Given the description of an element on the screen output the (x, y) to click on. 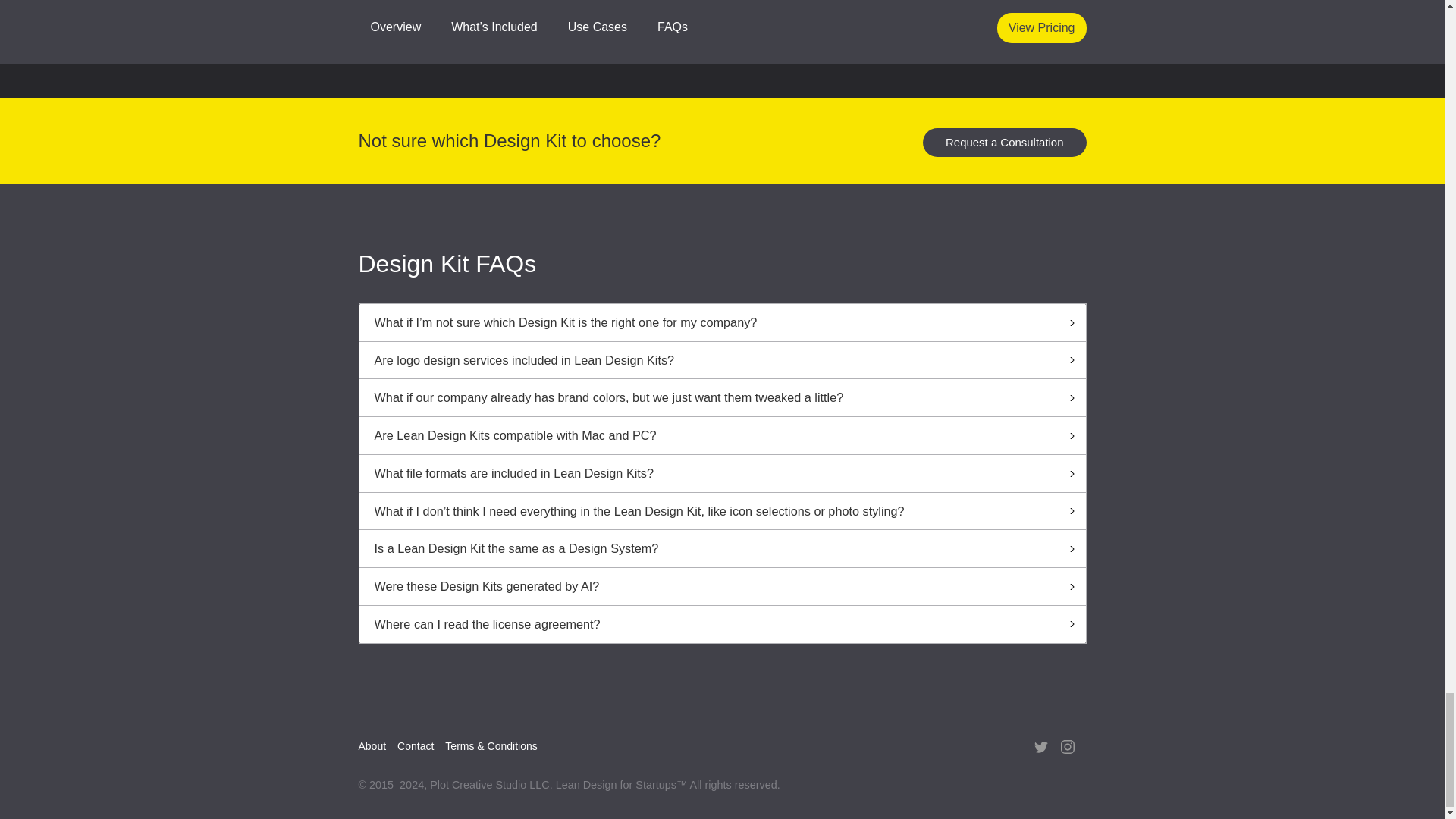
What file formats are included in Lean Design Kits? (722, 474)
Are logo design services included in Lean Design Kits? (722, 360)
About (377, 745)
Are Lean Design Kits compatible with Mac and PC? (722, 435)
Is a Lean Design Kit the same as a Design System? (722, 548)
Request a Consultation (1004, 142)
Contact (421, 745)
Were these Design Kits generated by AI? (722, 587)
Where can I read the license agreement? (722, 624)
